Given the description of an element on the screen output the (x, y) to click on. 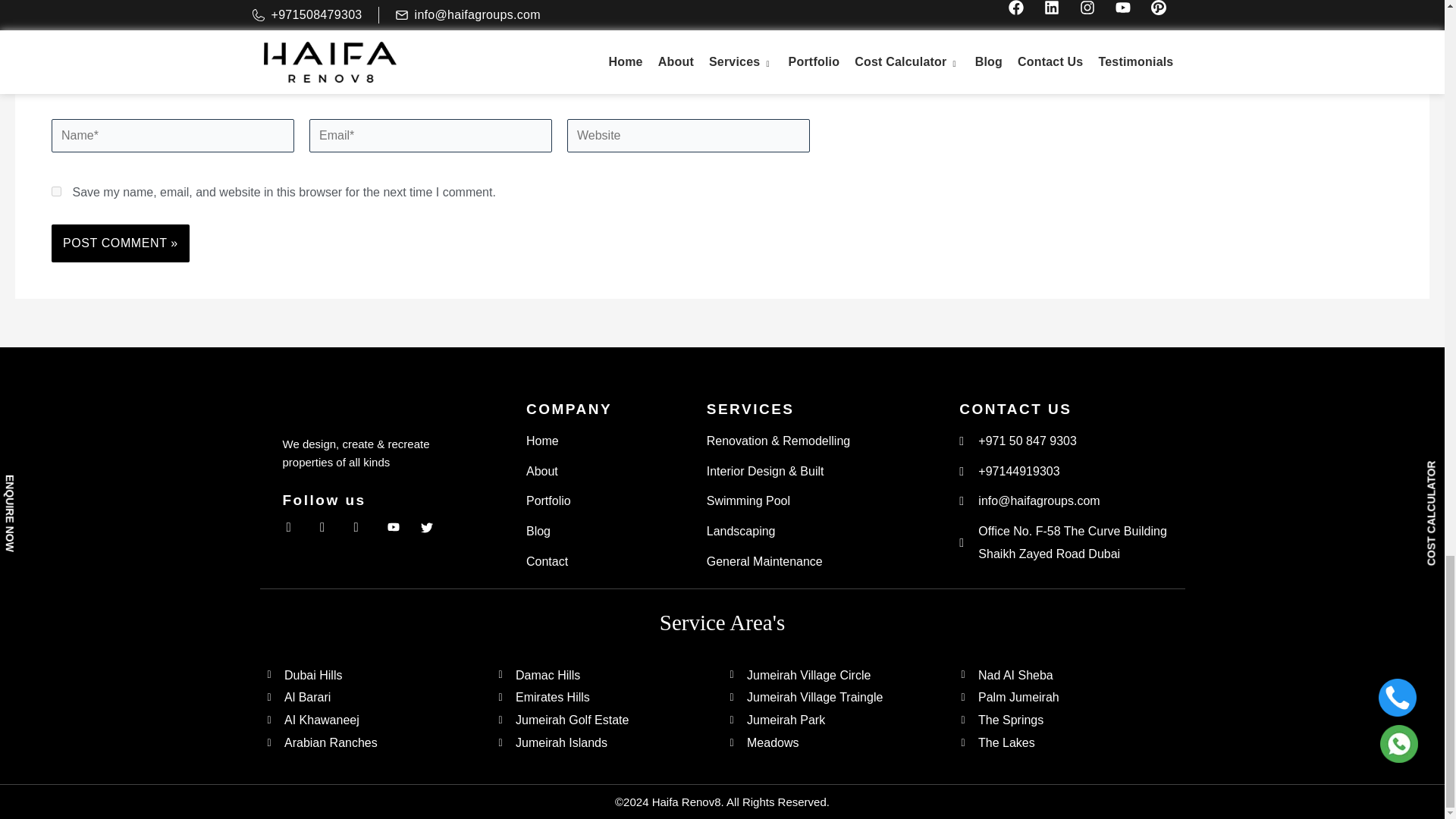
yes (55, 191)
